Given the description of an element on the screen output the (x, y) to click on. 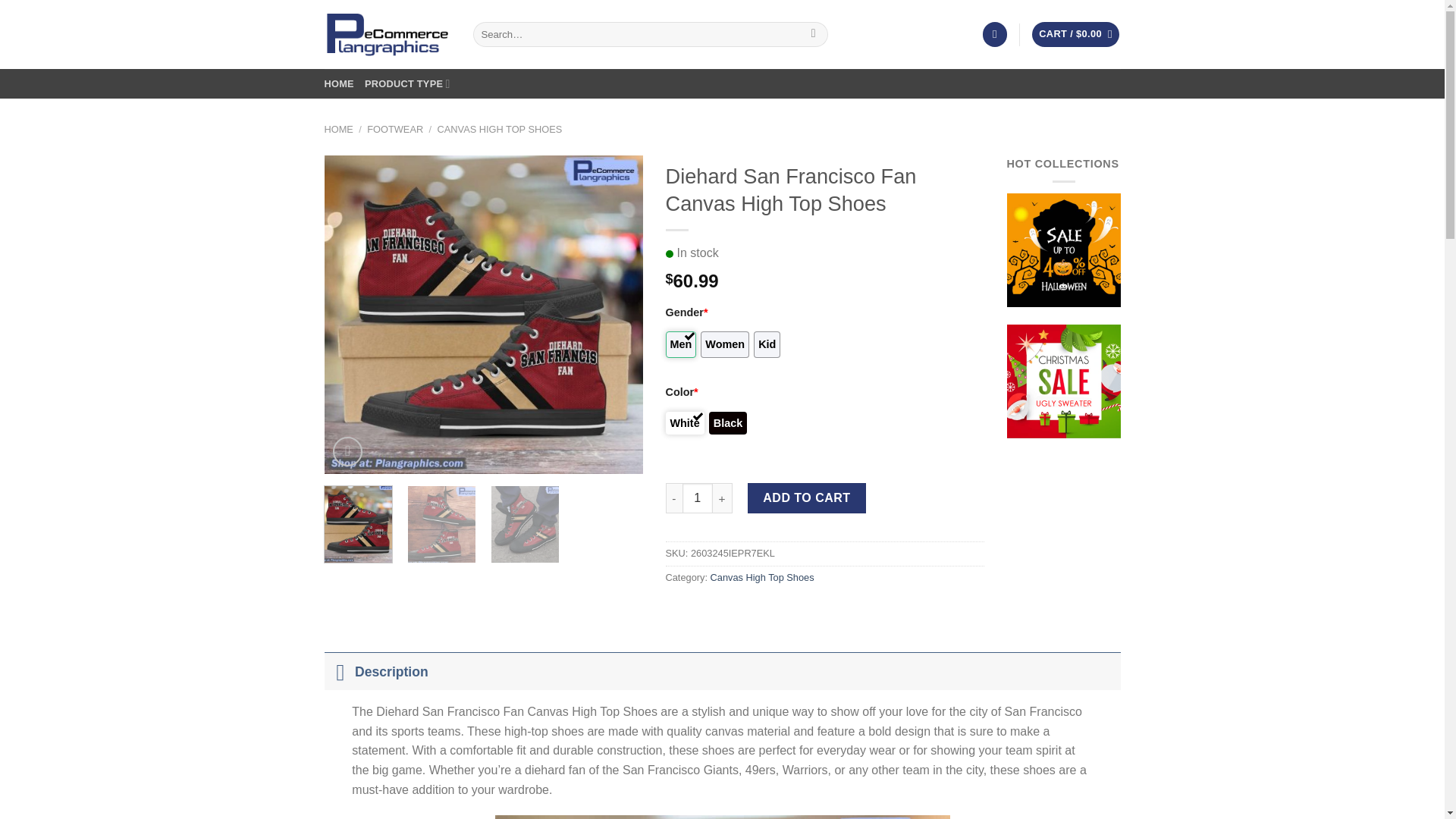
HOME (338, 129)
HOME (338, 83)
Women (724, 344)
Kid (767, 344)
Diehard San Francisco Fan Canvas High Top Shoes (801, 314)
Description (722, 670)
Search (812, 34)
Diehard San Francisco Fan Canvas High Top Shoes (483, 314)
Diehard San Francisco Fan Canvas High Top Shoes (1119, 314)
Men (681, 344)
